Given the description of an element on the screen output the (x, y) to click on. 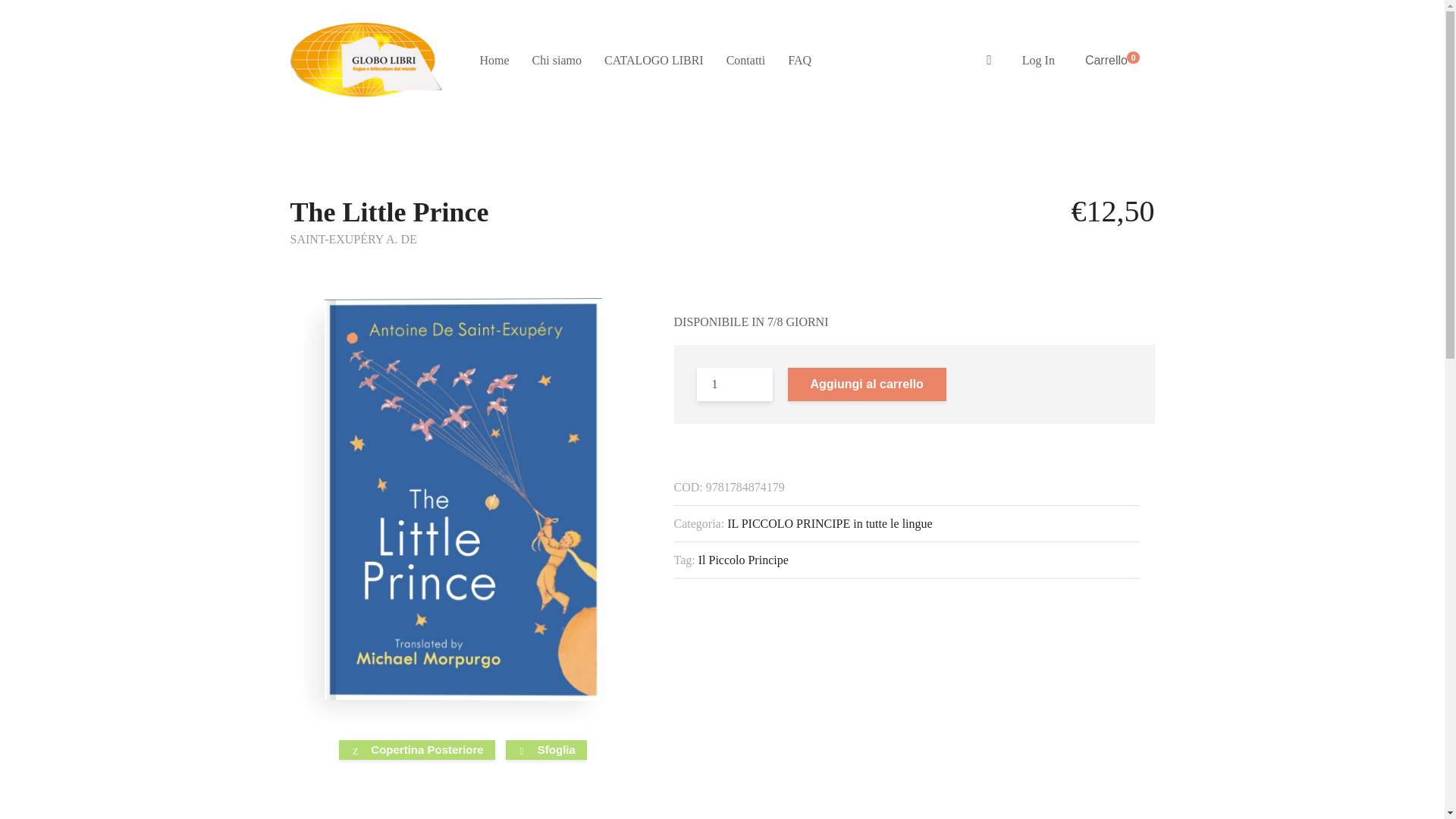
Carrello 0 (1112, 60)
Aggiungi al carrello (865, 384)
Sfoglia (545, 750)
Il Piccolo Principe (743, 559)
IL PICCOLO PRINCIPE in tutte le lingue (829, 522)
CATALOGO LIBRI (653, 60)
Globolibri.it (365, 59)
1 (733, 384)
Copertina Posteriore (417, 750)
Log In (1038, 60)
